Given the description of an element on the screen output the (x, y) to click on. 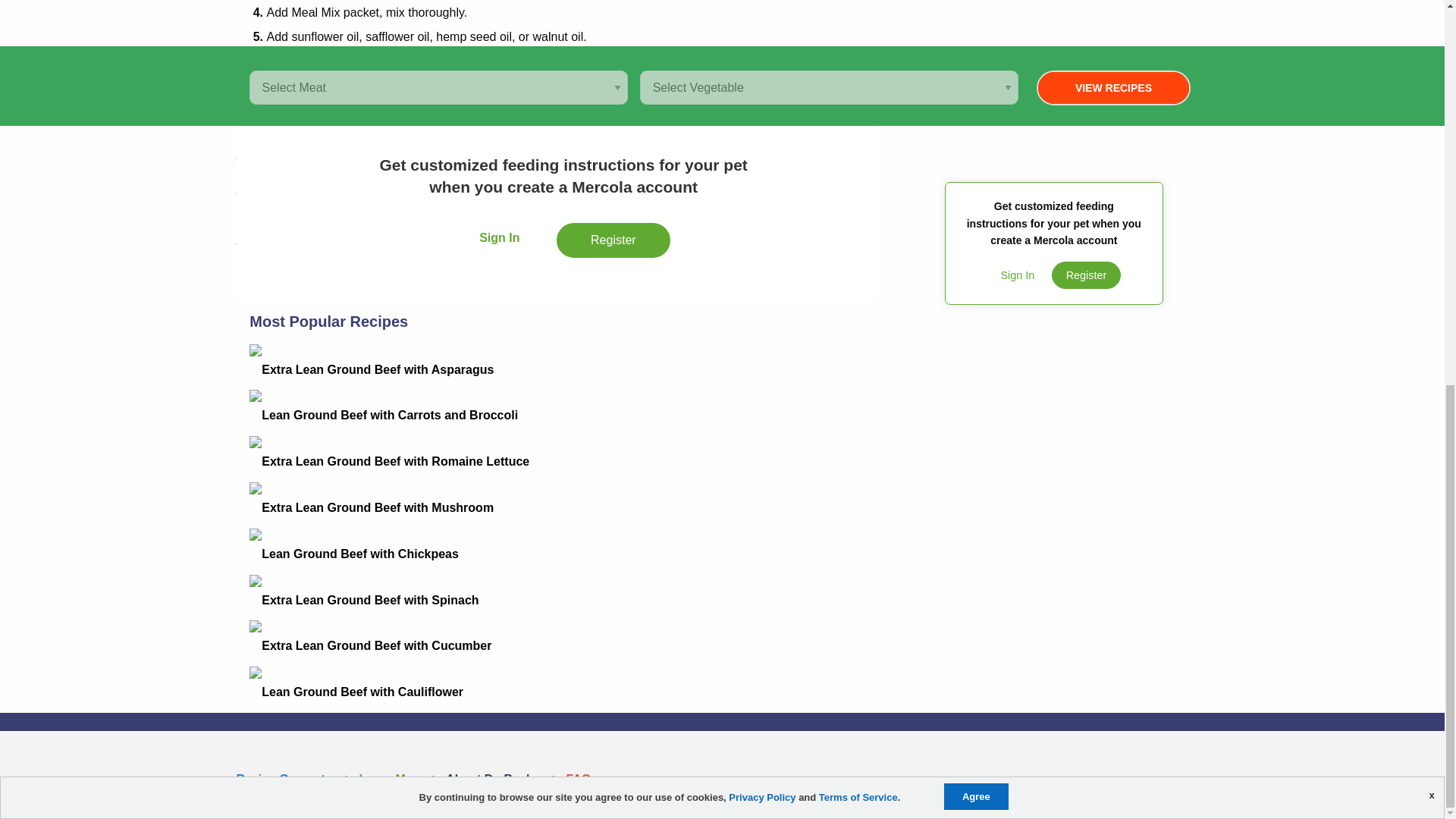
Extra Lean Ground Beef with Romaine Lettuce (720, 471)
Extra Lean Ground Beef with Asparagus (720, 380)
Register (612, 242)
Lean Ground Beef with Carrots and Broccoli (720, 425)
Sign In (499, 242)
